Given the description of an element on the screen output the (x, y) to click on. 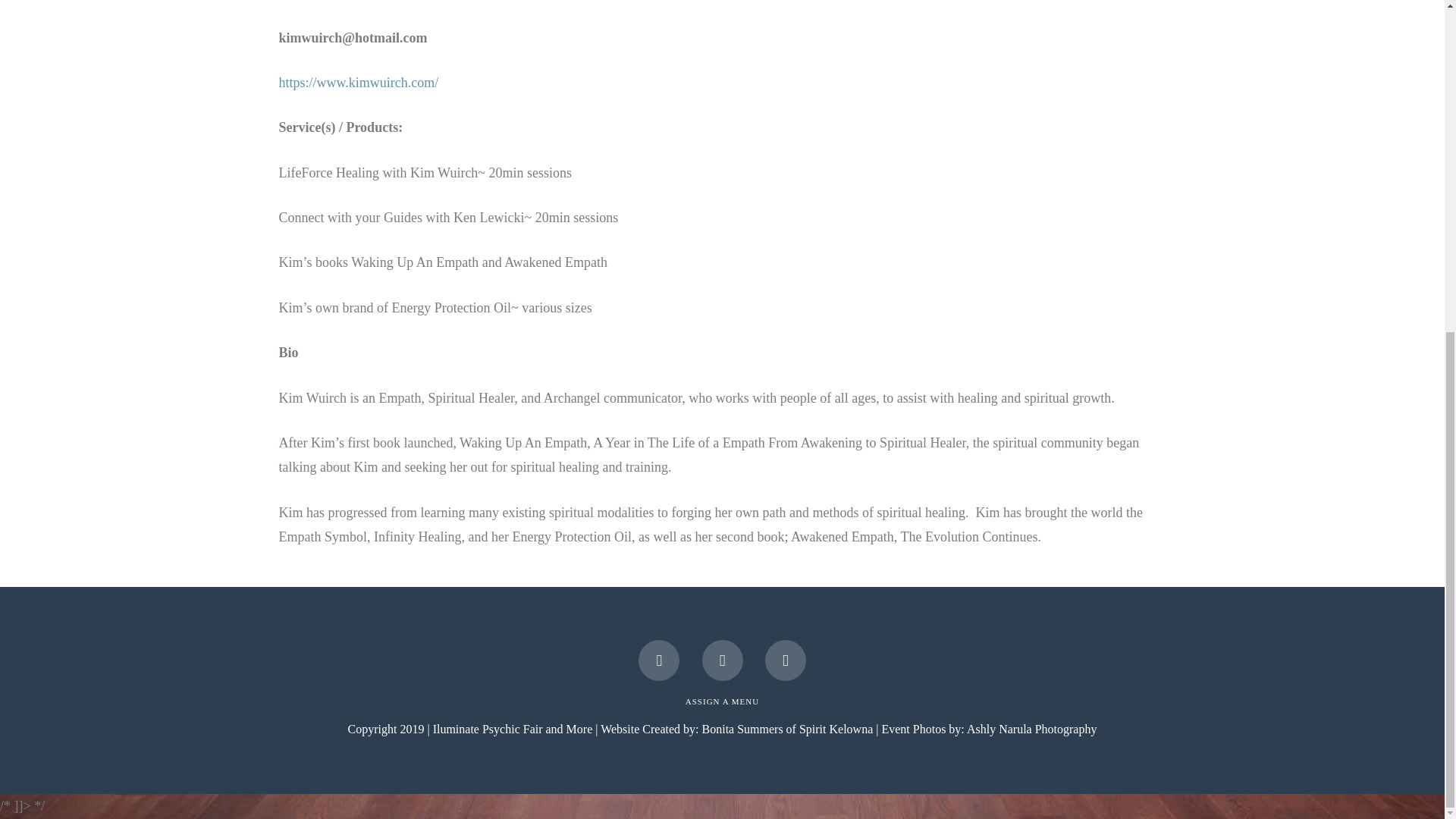
YouTube (721, 659)
ASSIGN A MENU (721, 700)
Instagram (785, 659)
Facebook (659, 659)
